Given the description of an element on the screen output the (x, y) to click on. 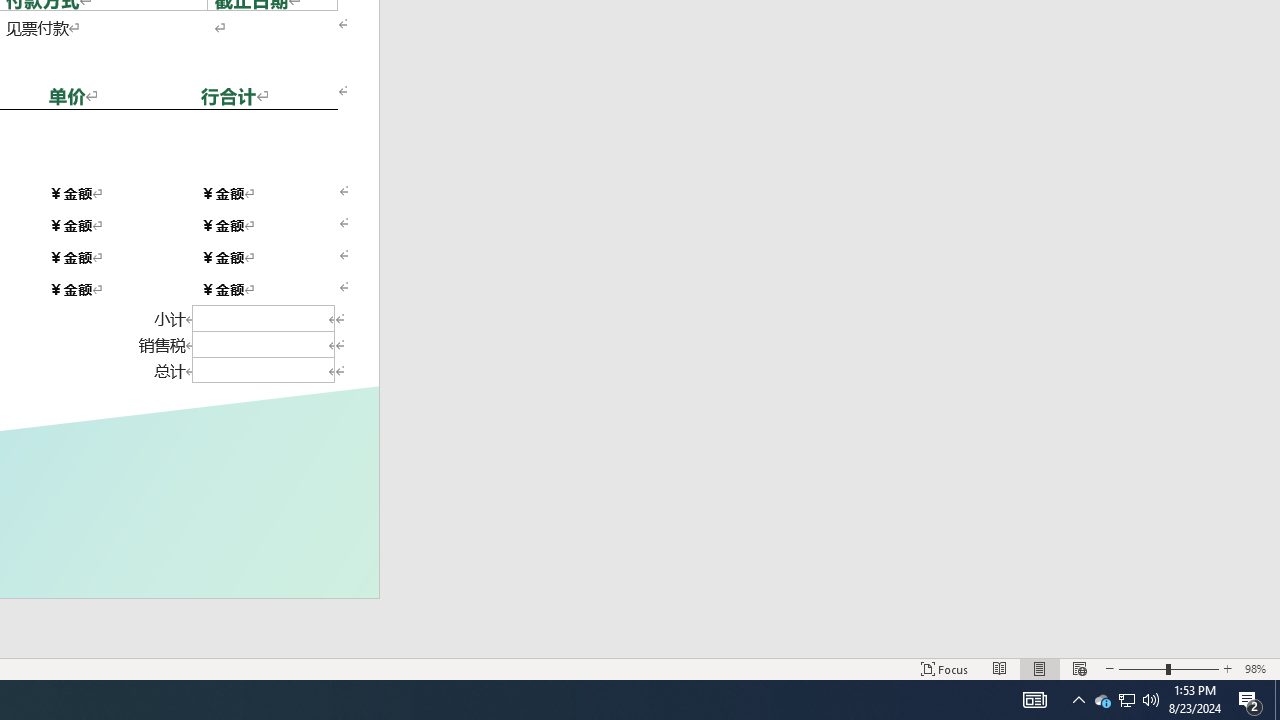
Zoom 98% (1258, 668)
